Given the description of an element on the screen output the (x, y) to click on. 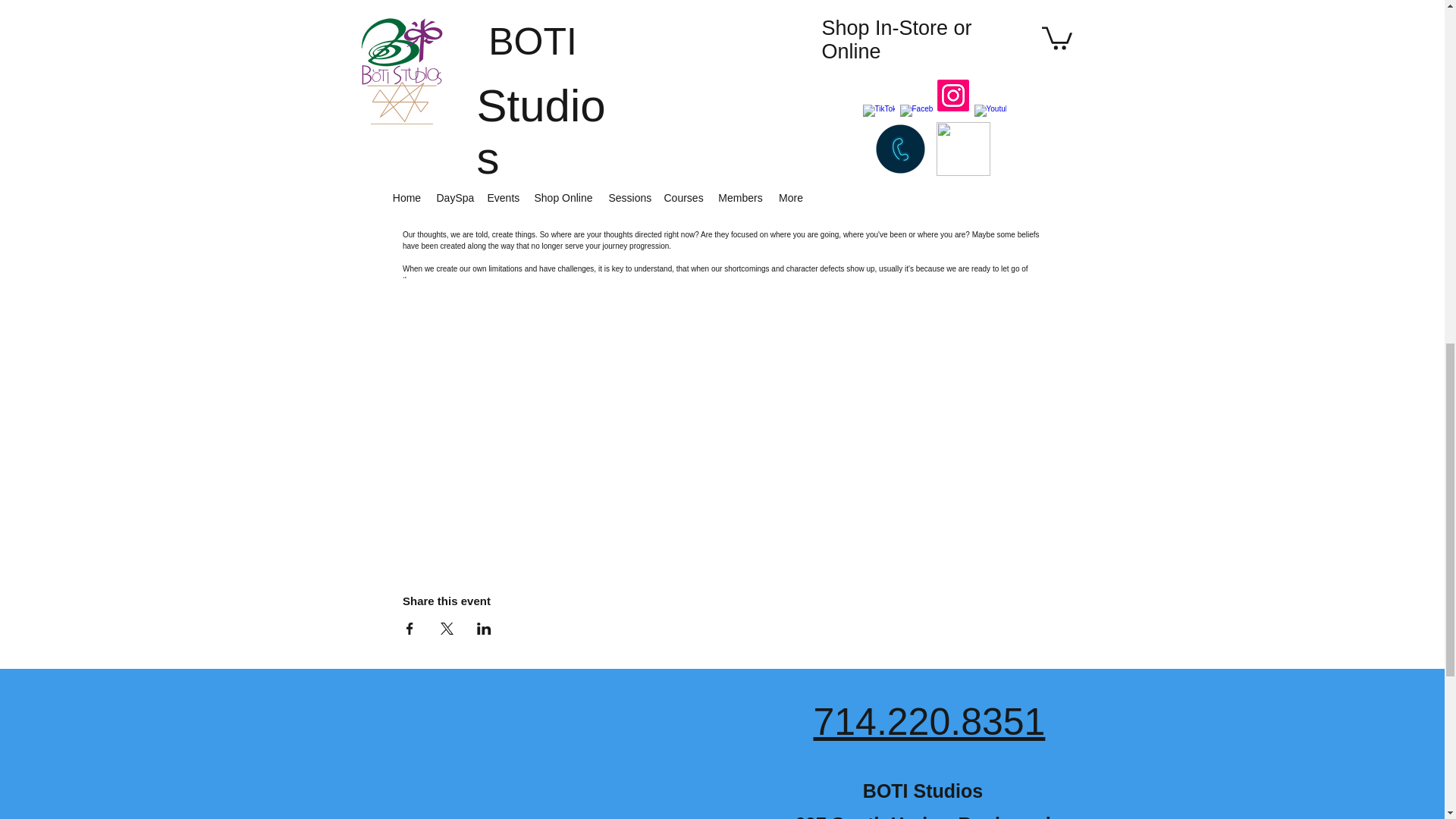
714.220.8351 (928, 721)
